Given the description of an element on the screen output the (x, y) to click on. 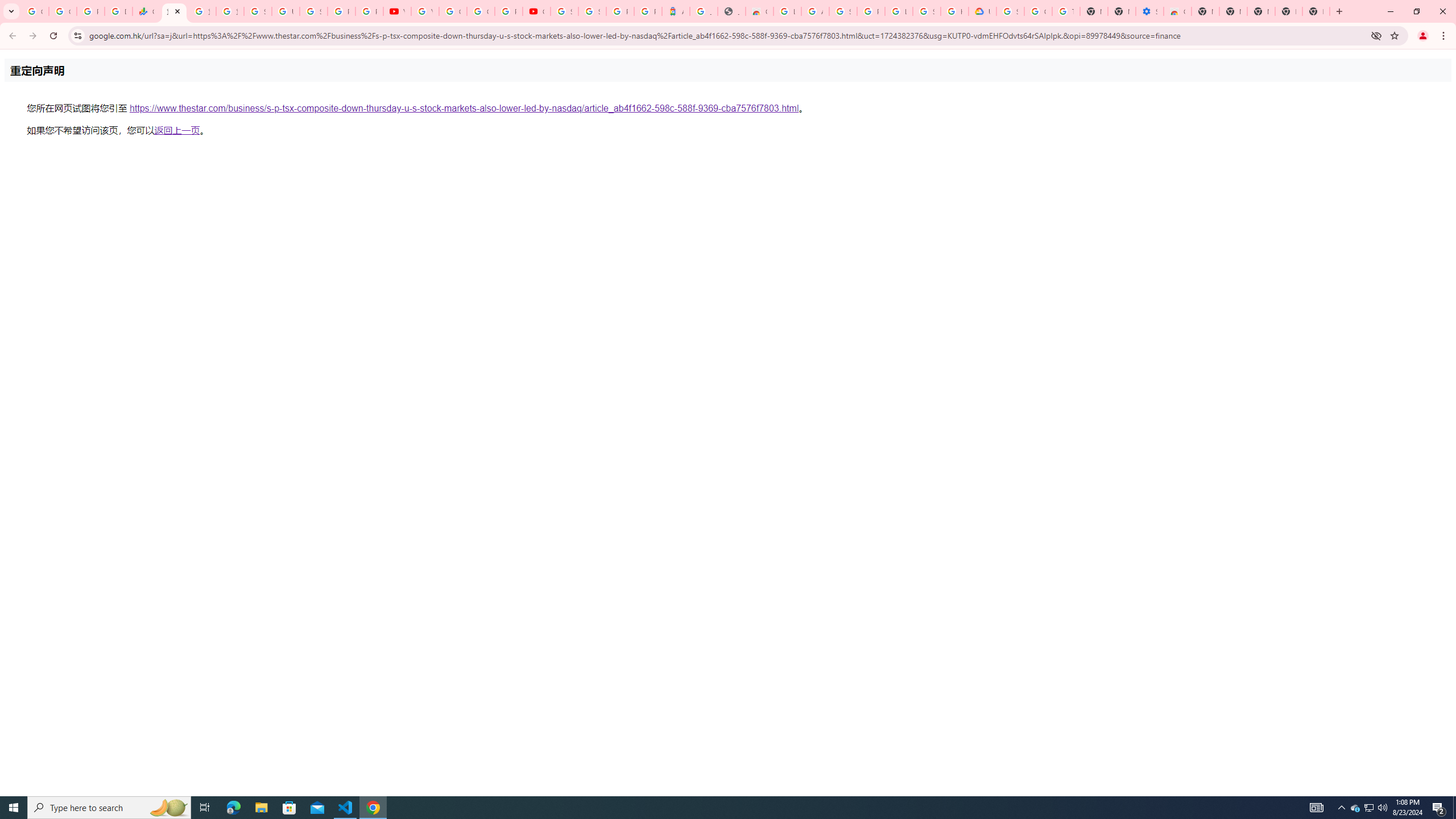
Sign in - Google Accounts (592, 11)
Chrome Web Store - Accessibility extensions (1177, 11)
Google Workspace Admin Community (34, 11)
Sign in - Google Accounts (926, 11)
Sign in - Google Accounts (842, 11)
Sign in - Google Accounts (313, 11)
